Given the description of an element on the screen output the (x, y) to click on. 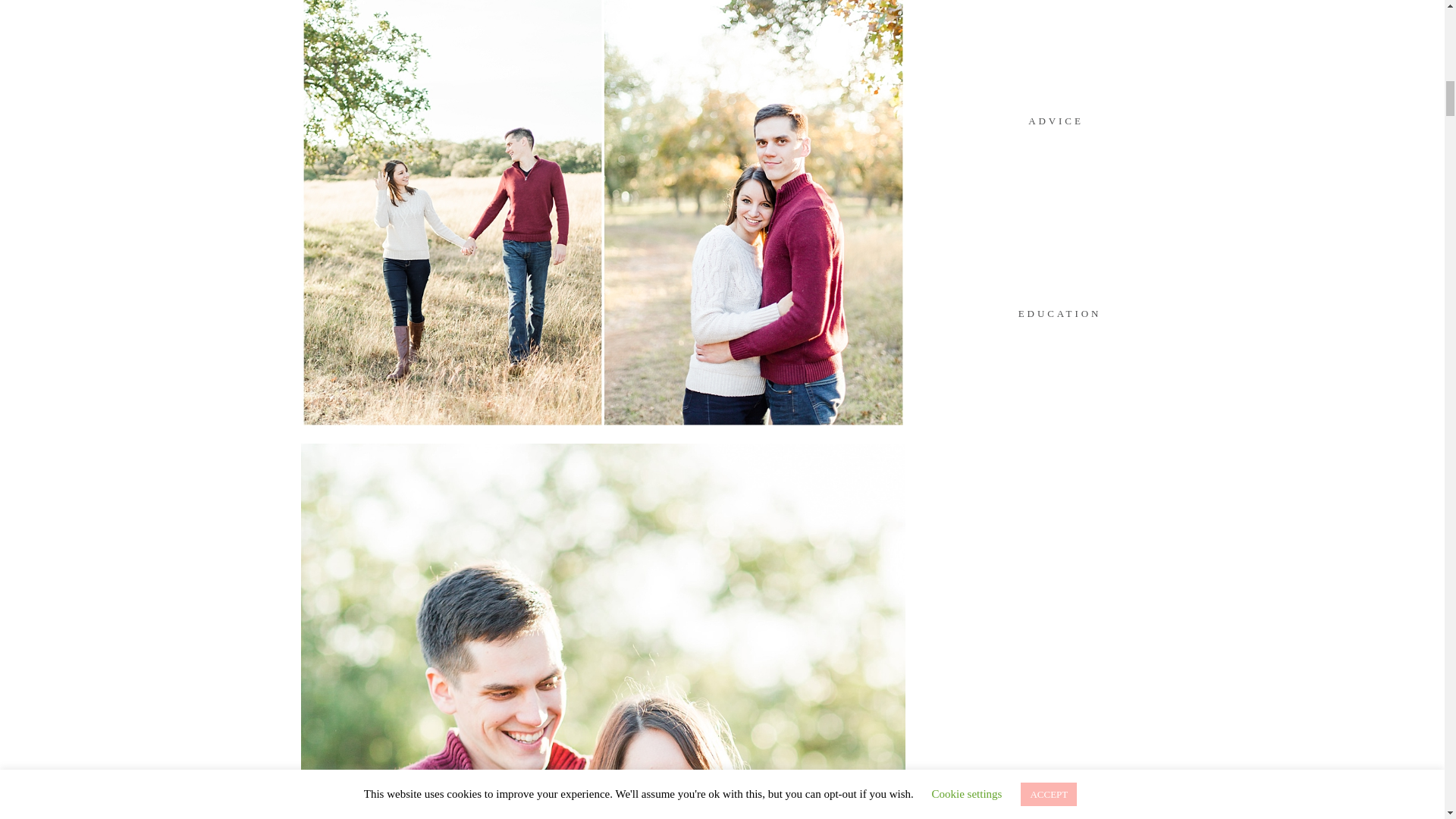
ADVICE (1056, 119)
EDUCATION (1059, 311)
